Given the description of an element on the screen output the (x, y) to click on. 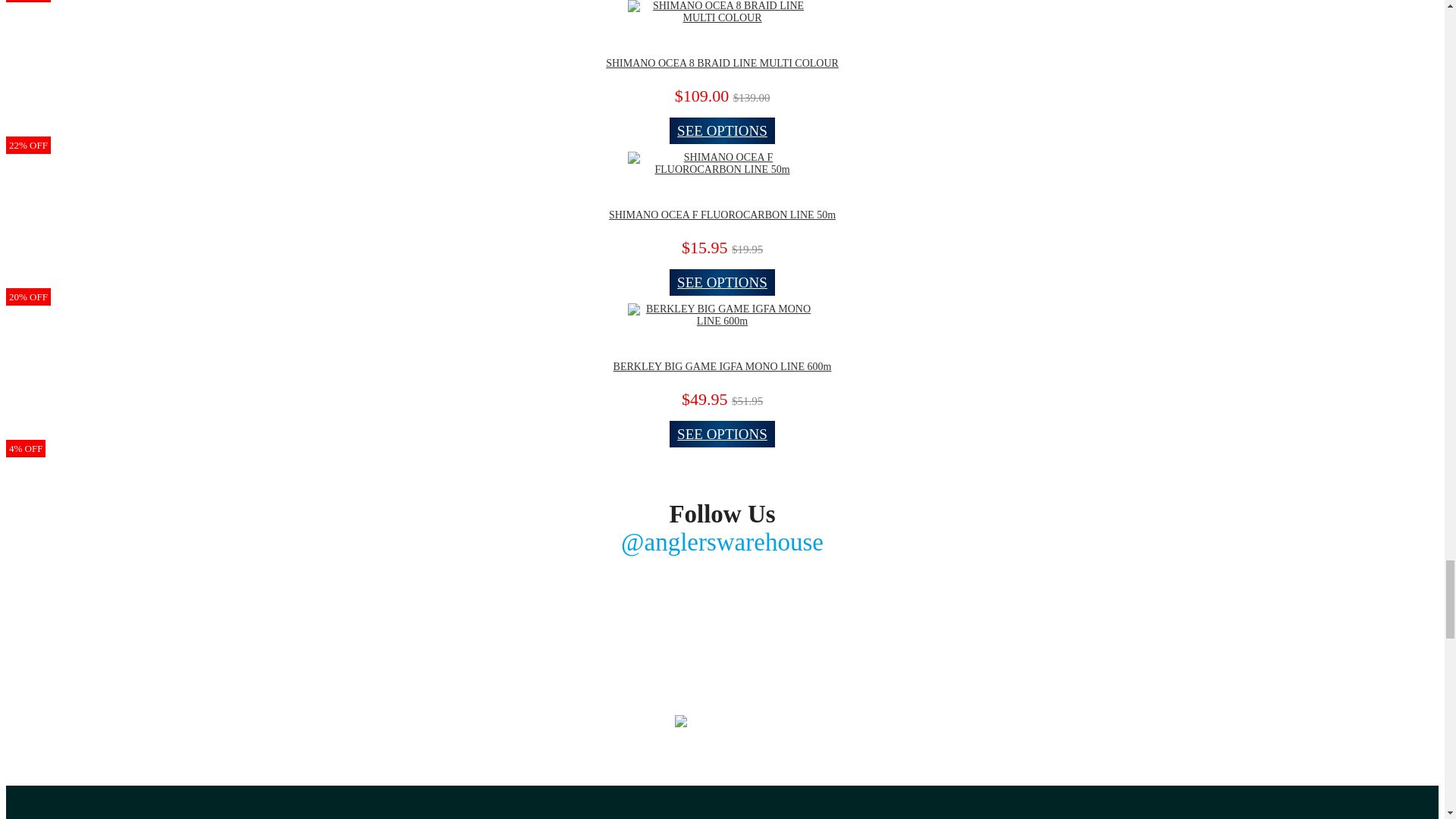
View SHIMANO OCEA 8 BRAID LINE MULTI COLOUR Buying Options (721, 130)
View SHIMANO OCEA F FLUOROCARBON LINE 50m Buying Options (721, 282)
View BERKLEY BIG GAME IGFA MONO LINE 600m Buying Options (721, 433)
